Given the description of an element on the screen output the (x, y) to click on. 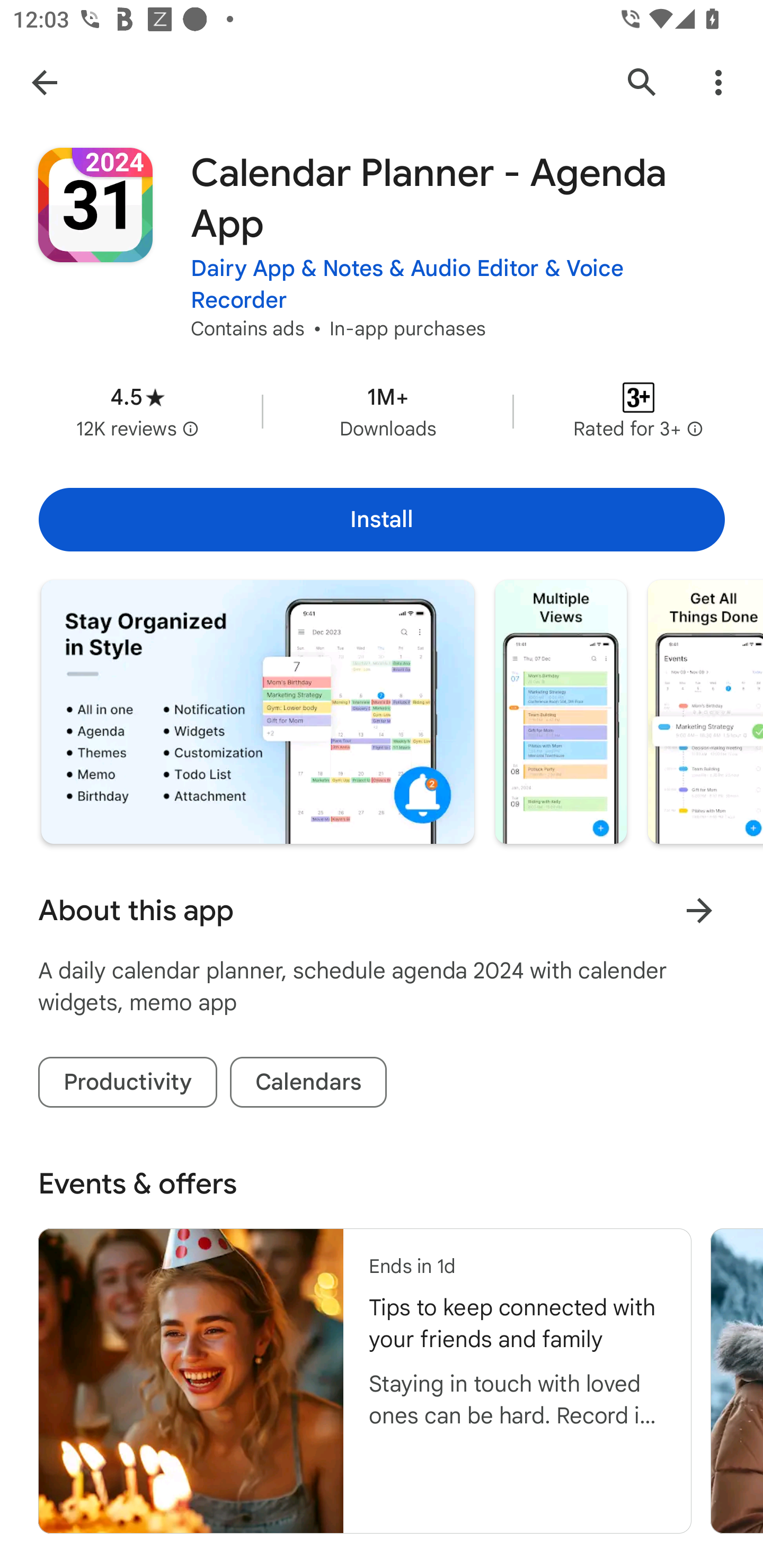
Navigate up (44, 81)
Search Google Play (642, 81)
More Options (718, 81)
Dairy App & Notes & Audio Editor & Voice Recorder (457, 284)
Average rating 4.5 stars in 12 thousand reviews (137, 411)
Content rating Rated for 3+ (638, 411)
Install (381, 519)
Screenshot "1" of "8" (257, 711)
Screenshot "2" of "8" (561, 711)
Screenshot "3" of "8" (705, 711)
About this app Learn more About this app (381, 909)
Learn more About this app (699, 909)
Productivity tag (127, 1082)
Calendars tag (307, 1082)
